Given the description of an element on the screen output the (x, y) to click on. 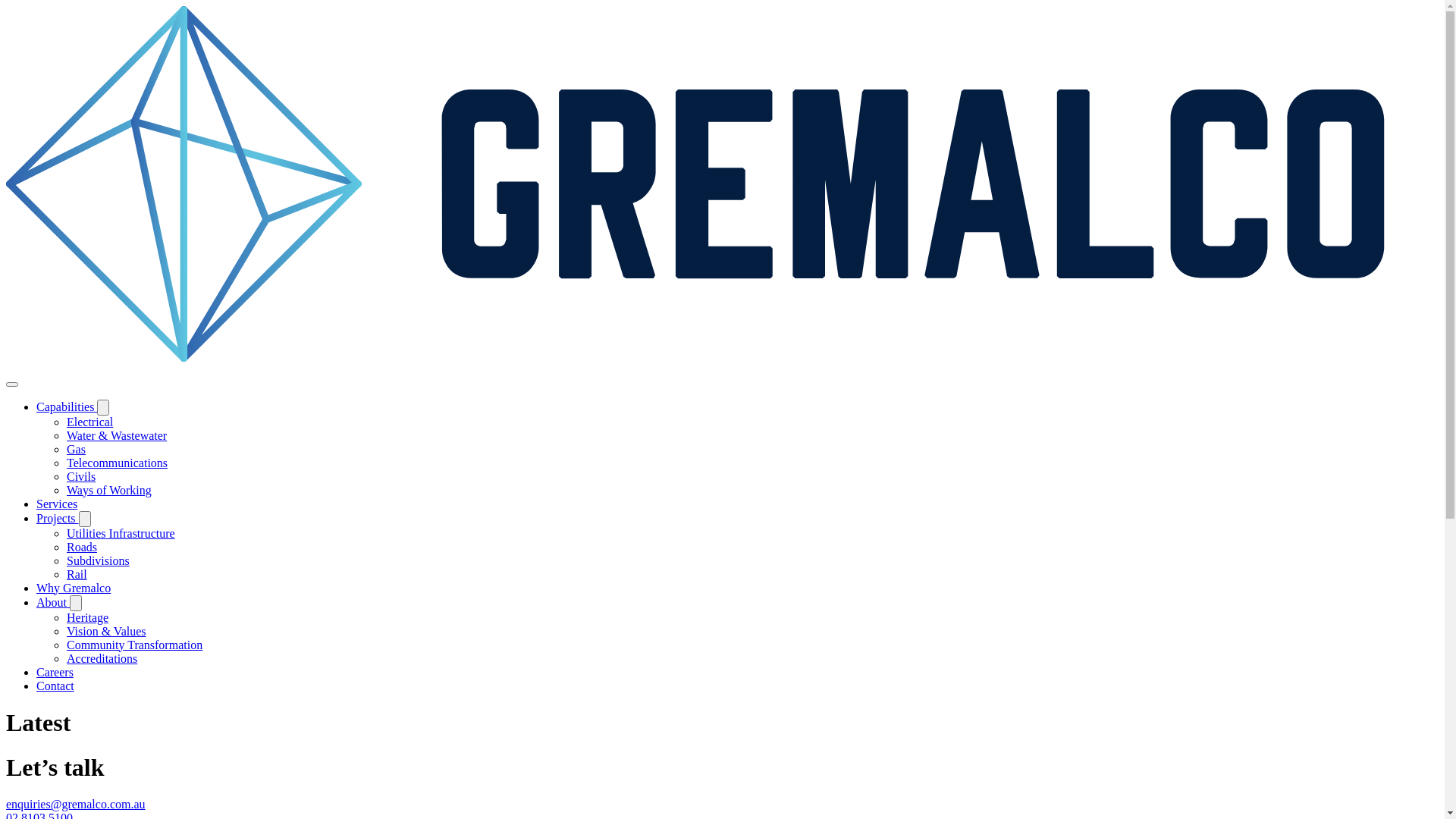
Why Gremalco Element type: text (73, 587)
Accreditations Element type: text (101, 658)
Utilities Infrastructure Element type: text (120, 533)
Rail Element type: text (76, 573)
enquiries@gremalco.com.au Element type: text (75, 803)
Community Transformation Element type: text (134, 644)
Civils Element type: text (80, 476)
Projects Element type: text (57, 517)
Careers Element type: text (54, 671)
Water & Wastewater Element type: text (116, 435)
Roads Element type: text (81, 546)
Contact Element type: text (55, 685)
Gas Element type: text (75, 448)
Electrical Element type: text (89, 421)
About Element type: text (52, 602)
Vision & Values Element type: text (106, 630)
Services Element type: text (56, 503)
Capabilities Element type: text (66, 406)
Ways of Working Element type: text (108, 489)
Heritage Element type: text (87, 617)
Telecommunications Element type: text (116, 462)
Subdivisions Element type: text (97, 560)
